Given the description of an element on the screen output the (x, y) to click on. 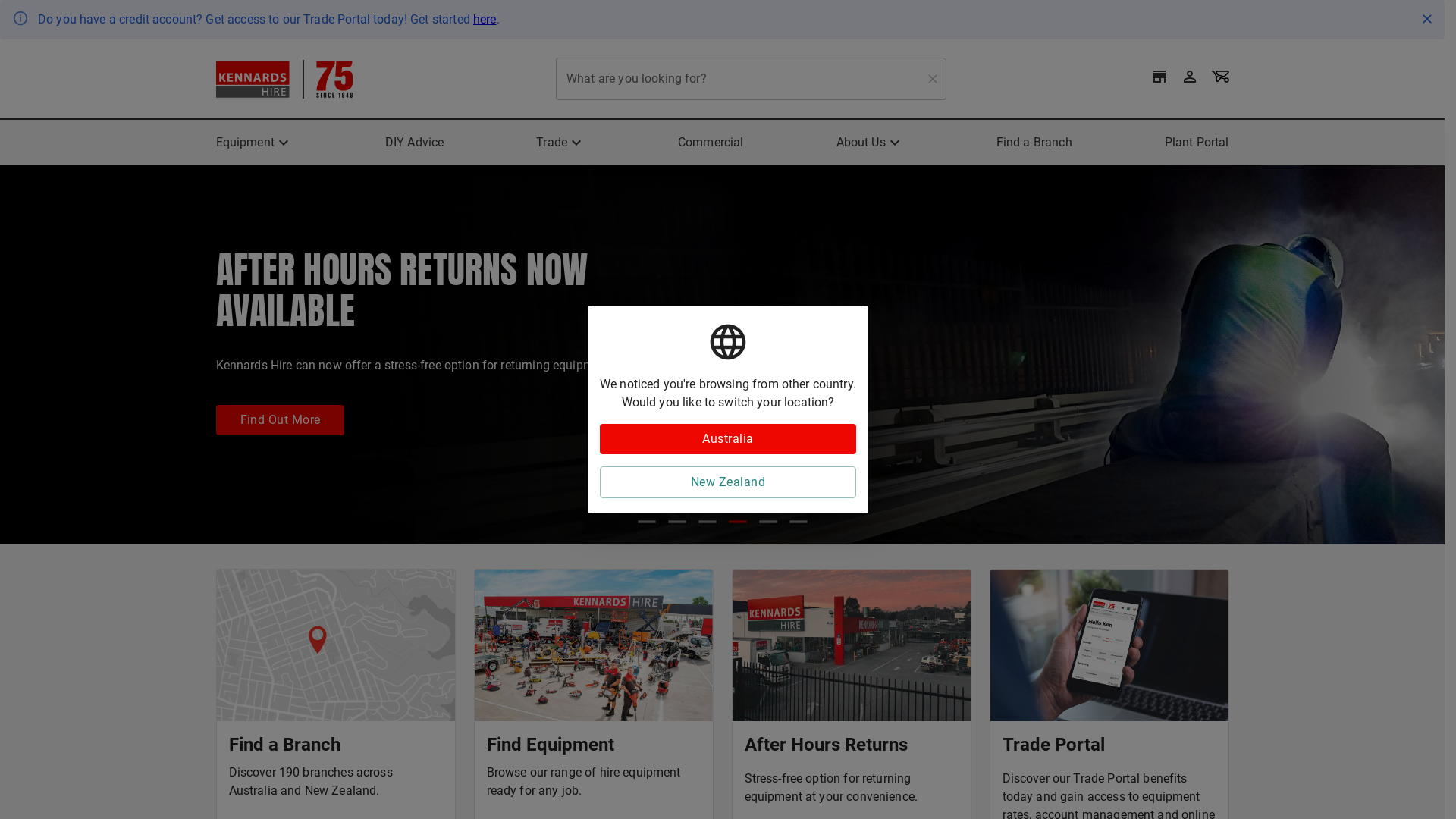
Close Element type: hover (1426, 18)
Plant Portal Element type: text (1196, 142)
Find a Branch Element type: text (1034, 142)
Australia Element type: text (727, 438)
DIY Advice Element type: text (414, 142)
Read More Element type: text (269, 398)
Commercial Element type: text (710, 142)
New Zealand Element type: text (727, 482)
Kennards Hire - Hire or Rent Equipment, Tools & Supplies Element type: hover (283, 78)
here Element type: text (484, 19)
